Given the description of an element on the screen output the (x, y) to click on. 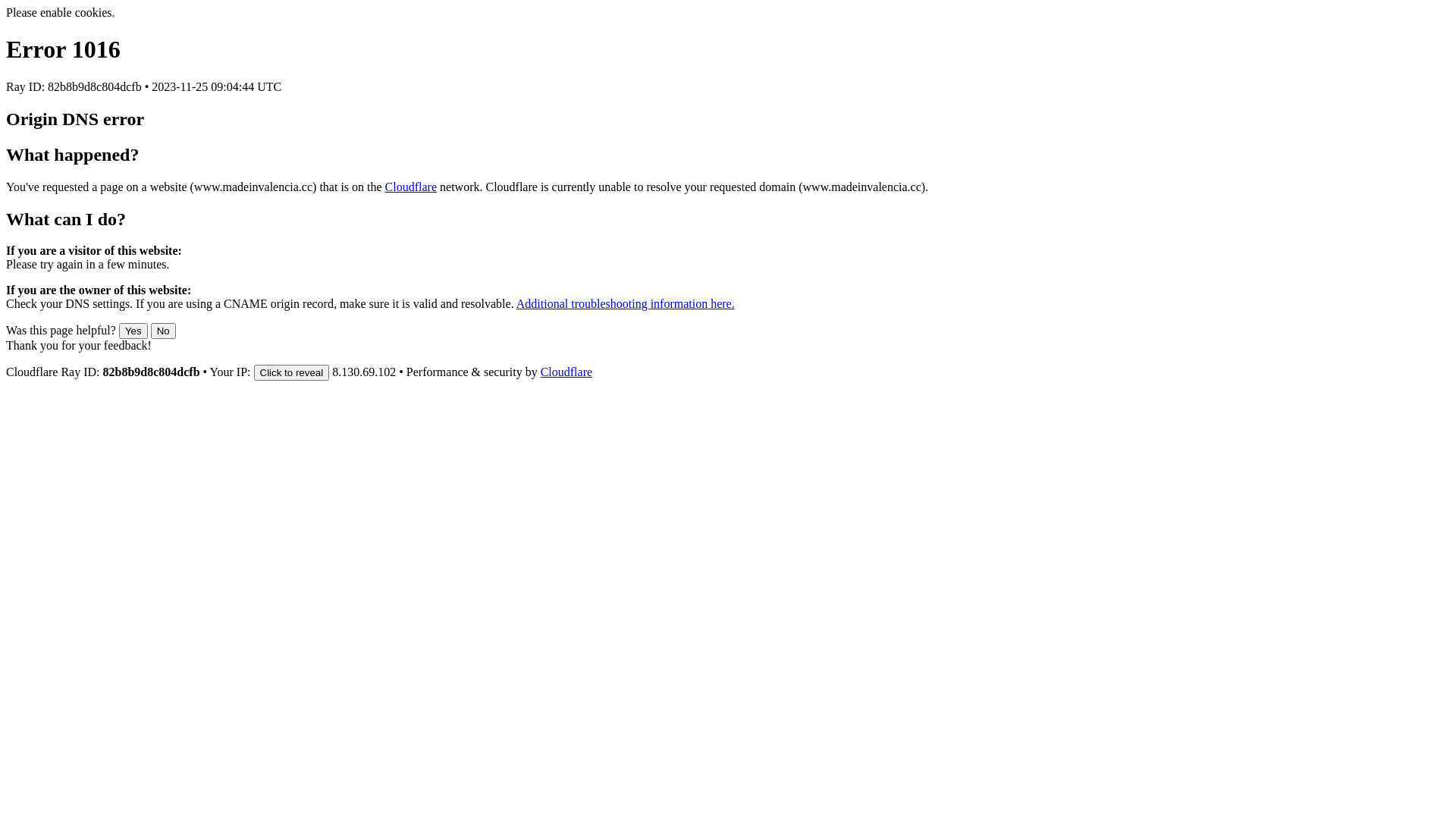
Yes Element type: text (133, 330)
Cloudflare Element type: text (566, 371)
No Element type: text (162, 330)
Click to reveal Element type: text (291, 372)
Additional troubleshooting information here. Element type: text (625, 303)
Cloudflare Element type: text (410, 186)
